Given the description of an element on the screen output the (x, y) to click on. 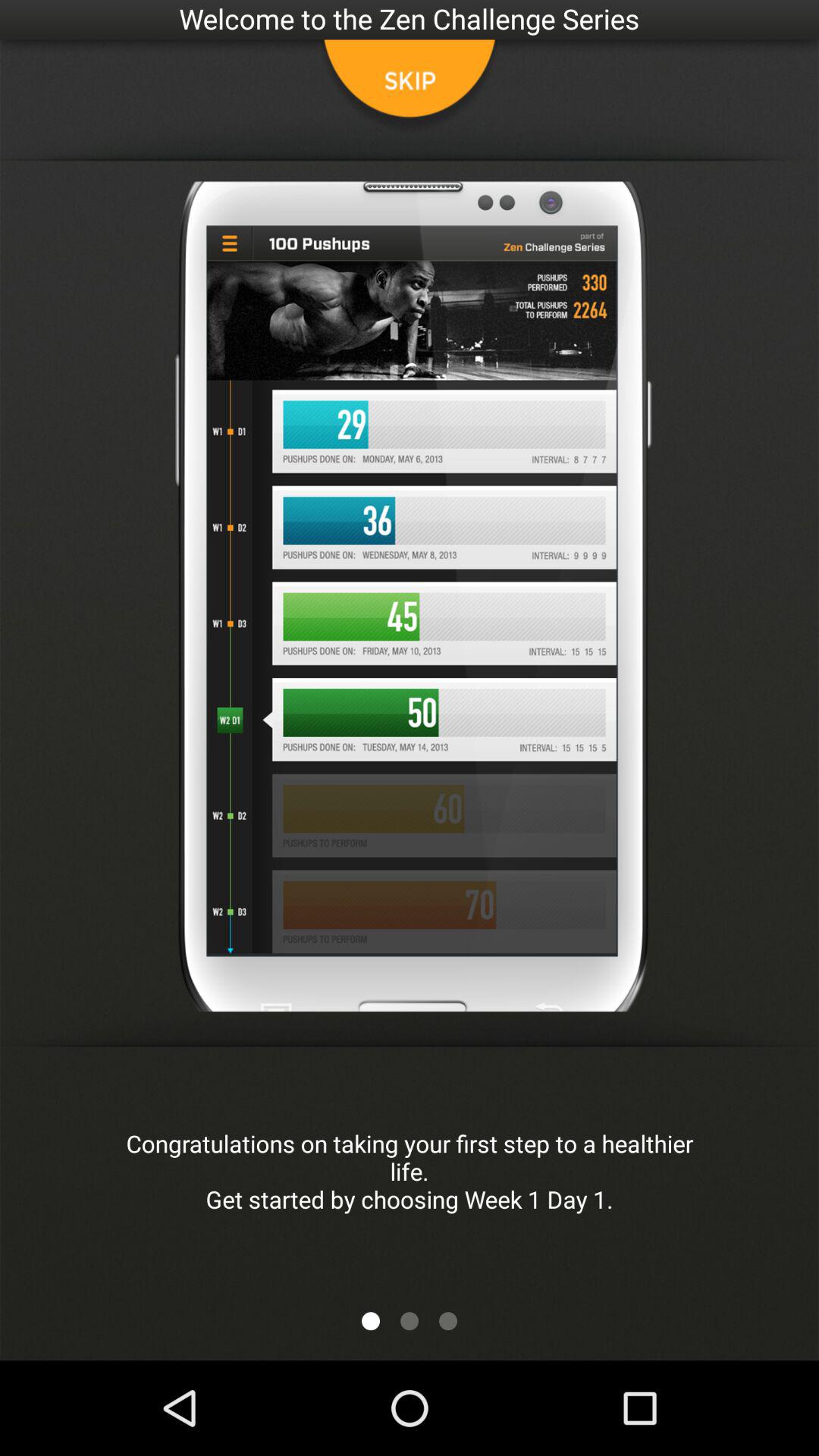
go to next picture (370, 1321)
